Given the description of an element on the screen output the (x, y) to click on. 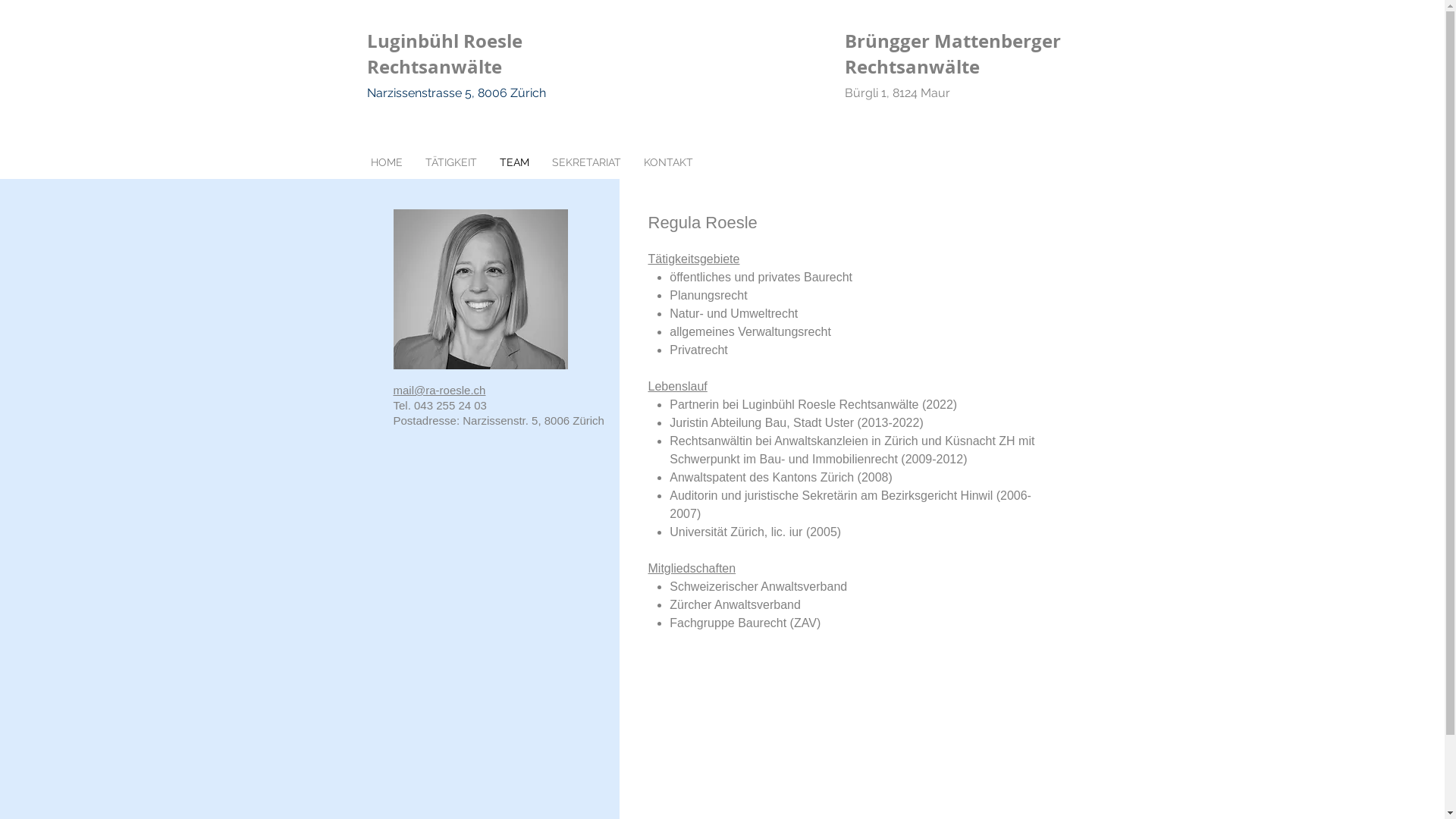
Postadresse: Element type: text (425, 420)
SEKRETARIAT Element type: text (585, 161)
HOME Element type: text (386, 161)
mail@ra-roesle.ch Element type: text (438, 389)
TEAM Element type: text (514, 161)
KONTAKT Element type: text (668, 161)
Tel. 043 255 24 03 Element type: text (439, 404)
